Given the description of an element on the screen output the (x, y) to click on. 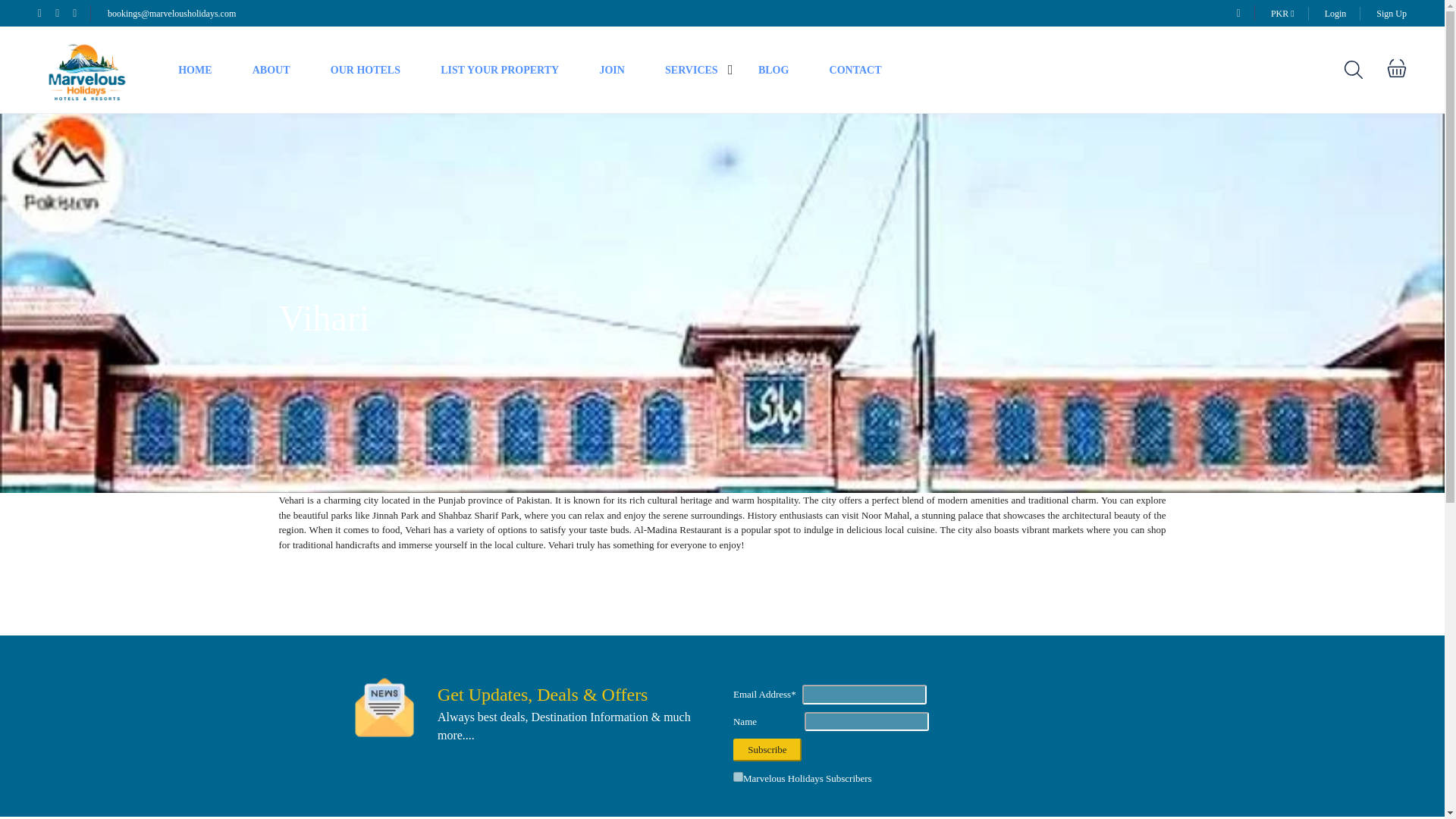
JOIN (611, 69)
PKR (1282, 13)
HOME (194, 69)
LIST YOUR PROPERTY (500, 69)
Login (1335, 13)
BLOG (773, 69)
Subscribe (767, 749)
OUR HOTELS (365, 69)
SERVICES (691, 69)
CONTACT (855, 69)
Subscribe (767, 749)
5 (737, 777)
Sign Up (1390, 13)
ABOUT (270, 69)
